Given the description of an element on the screen output the (x, y) to click on. 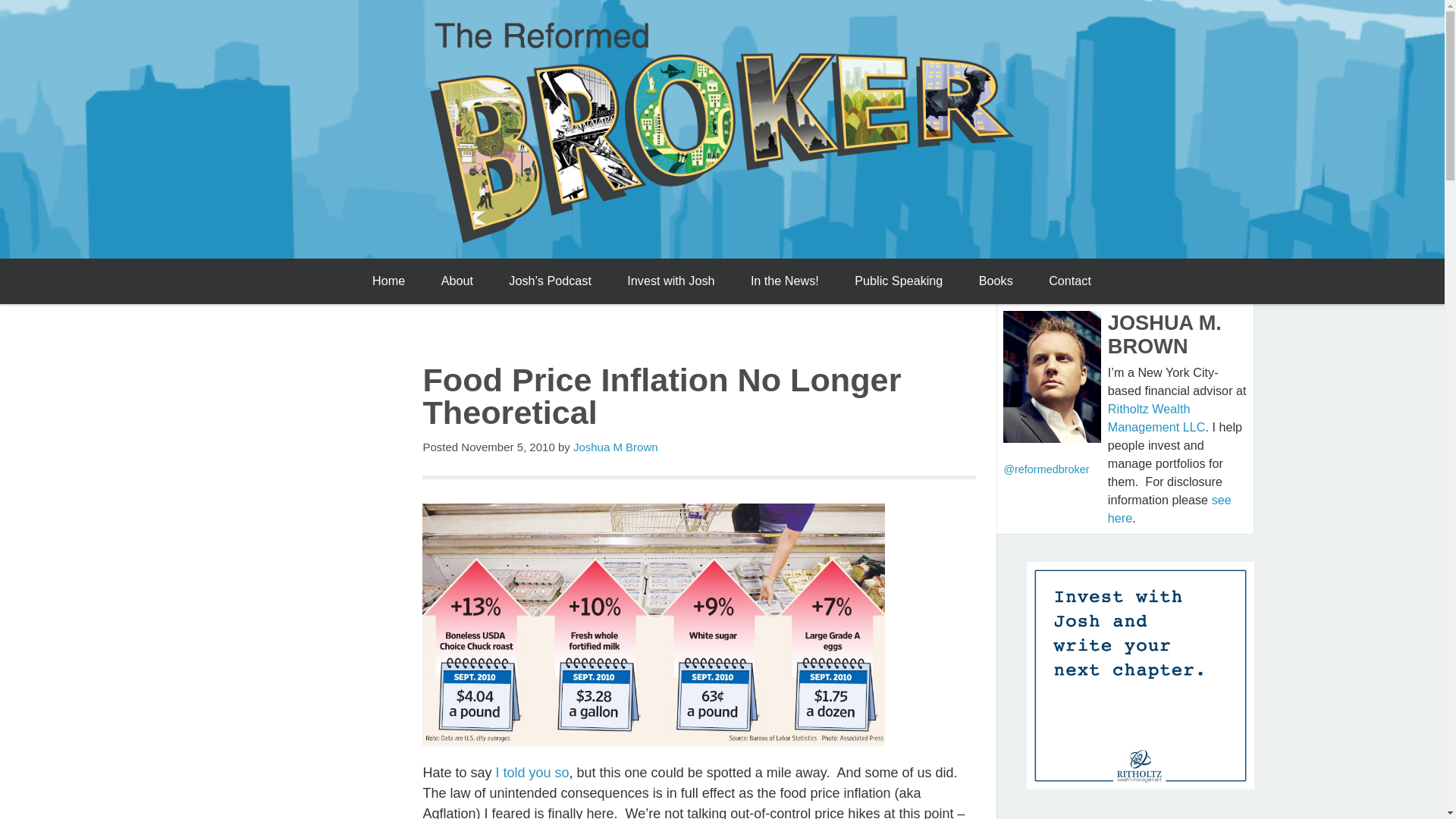
Posts by Joshua M Brown (615, 446)
Books (995, 280)
Joshua M Brown (615, 446)
Public Speaking (899, 280)
About (456, 280)
Contact (1069, 280)
Home (388, 280)
I told you so (532, 772)
In the News! (784, 280)
Invest with Josh (670, 280)
food-price-inflation (653, 624)
